Given the description of an element on the screen output the (x, y) to click on. 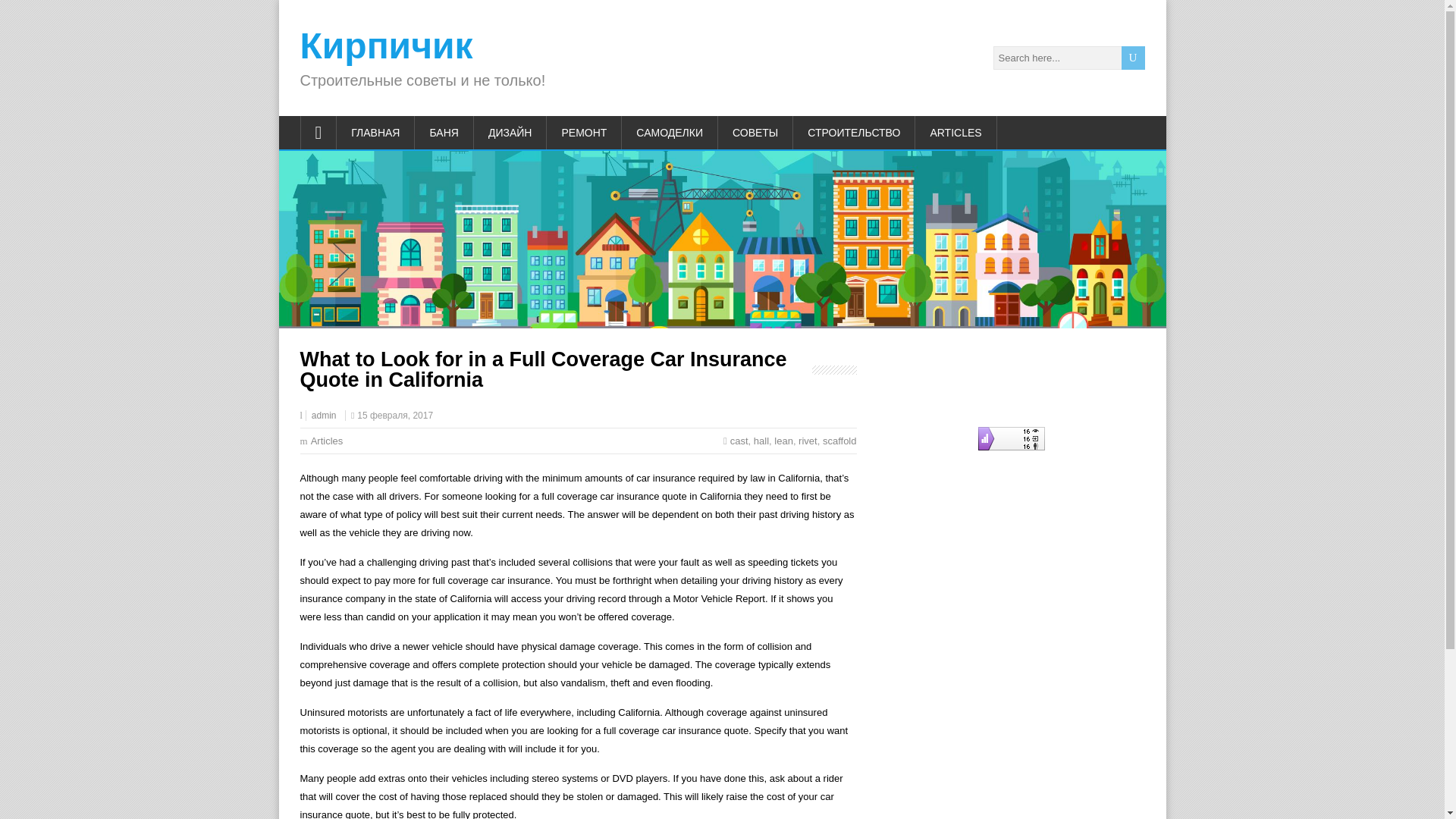
U (1132, 57)
scaffold (839, 440)
U (1132, 57)
lean (783, 440)
ARTICLES (955, 132)
U (1132, 57)
rivet (806, 440)
cast (739, 440)
hall (761, 440)
Articles (327, 440)
admin (323, 415)
